Given the description of an element on the screen output the (x, y) to click on. 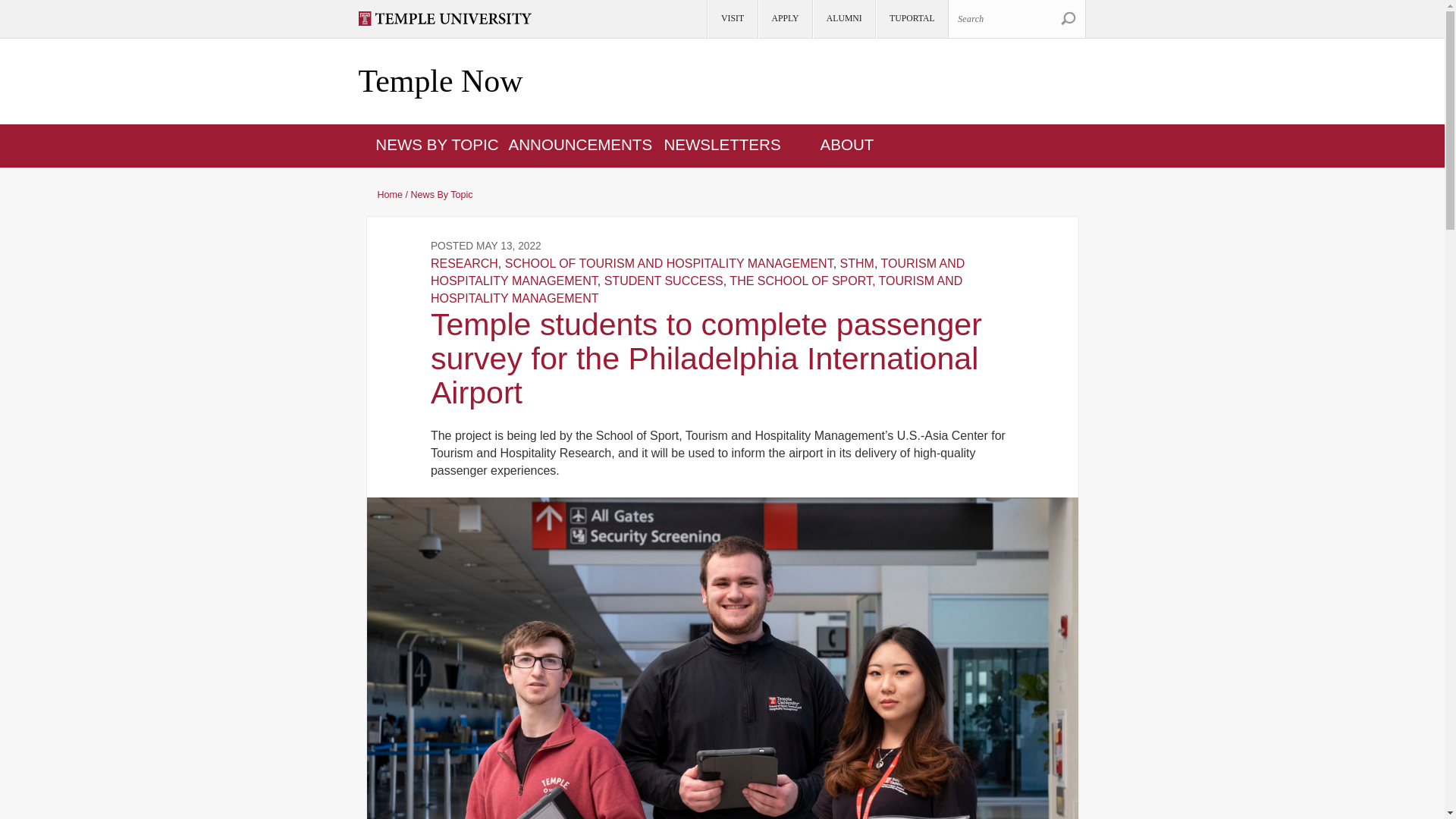
ALUMNI (843, 19)
Visit Temple.edu (451, 18)
Home (440, 81)
Temple Now (440, 81)
Search (1067, 18)
APPLY (784, 19)
TUPORTAL (911, 19)
Search Site (1067, 18)
ABOUT (848, 144)
NEWSLETTERS (721, 144)
